Given the description of an element on the screen output the (x, y) to click on. 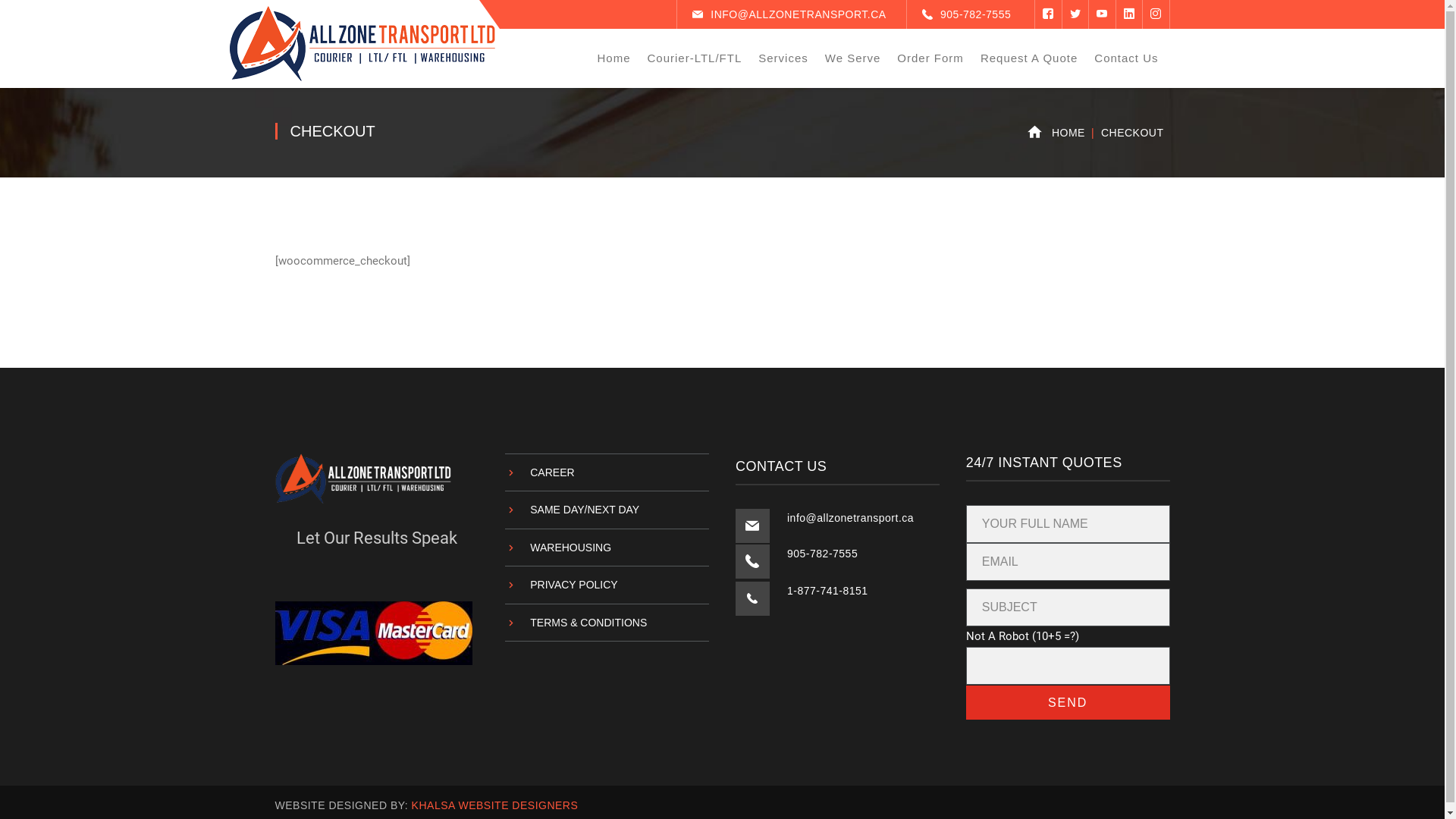
KHALSA WEBSITE DESIGNERS Element type: text (494, 781)
Order Form Element type: text (930, 57)
Twitter Element type: hover (1074, 14)
CAREER Element type: text (539, 471)
Courier-LTL/FTL Element type: text (693, 57)
LinkedIn Element type: hover (1128, 14)
Services Element type: text (783, 57)
Contact Us Element type: text (1125, 57)
Send Element type: text (1068, 702)
WAREHOUSING Element type: text (558, 547)
All Zone Transport Element type: hover (361, 42)
HOME Element type: text (1068, 132)
We Serve Element type: text (852, 57)
TERMS & CONDITIONS Element type: text (575, 621)
Home Element type: text (613, 57)
Facebook Element type: hover (1047, 14)
Request A Quote Element type: text (1028, 57)
Youtube Element type: hover (1101, 14)
SAME DAY/NEXT DAY Element type: text (572, 509)
Instagram Element type: hover (1156, 14)
PRIVACY POLICY Element type: text (561, 584)
